Given the description of an element on the screen output the (x, y) to click on. 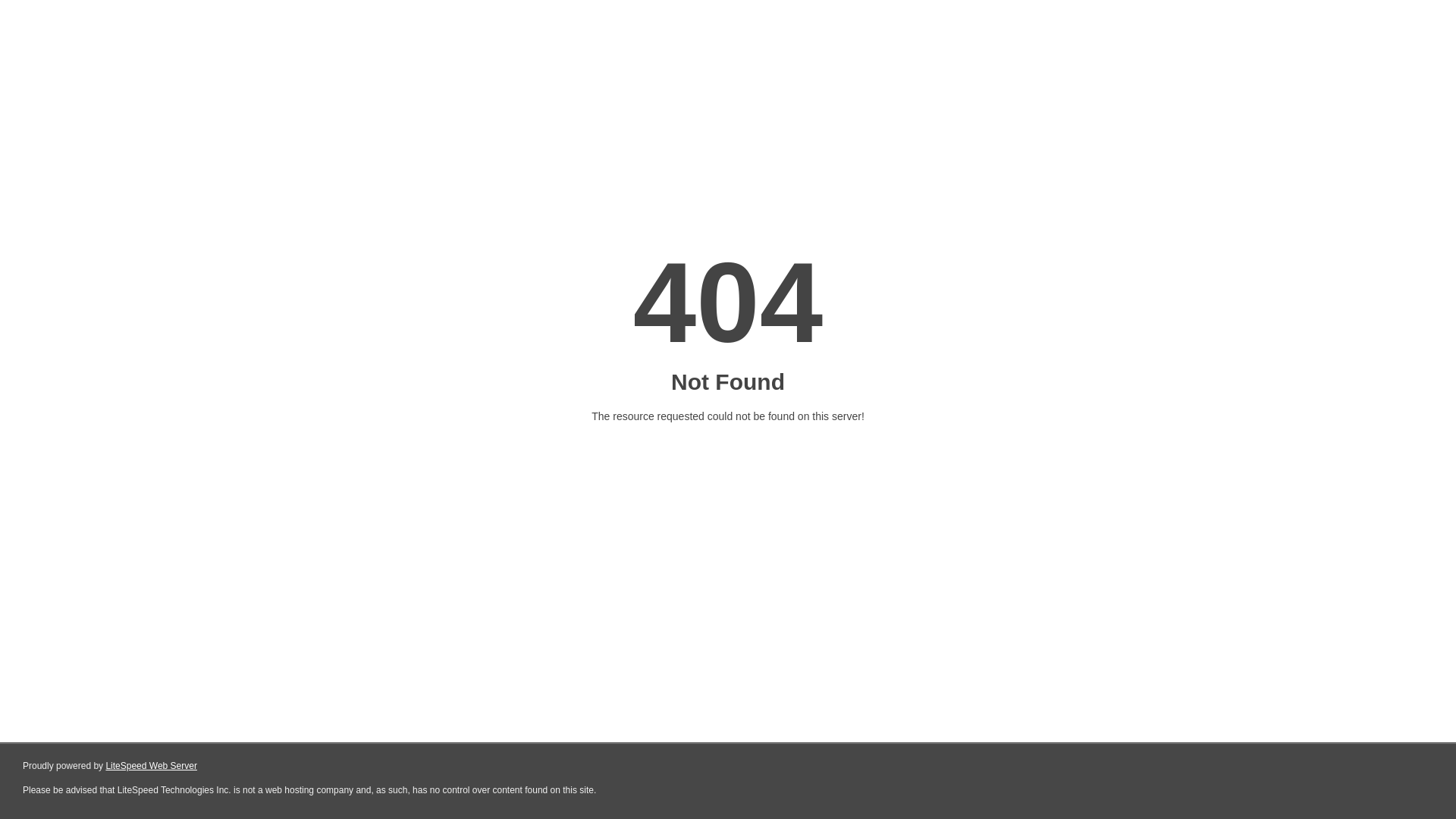
LiteSpeed Web Server Element type: text (151, 765)
